Given the description of an element on the screen output the (x, y) to click on. 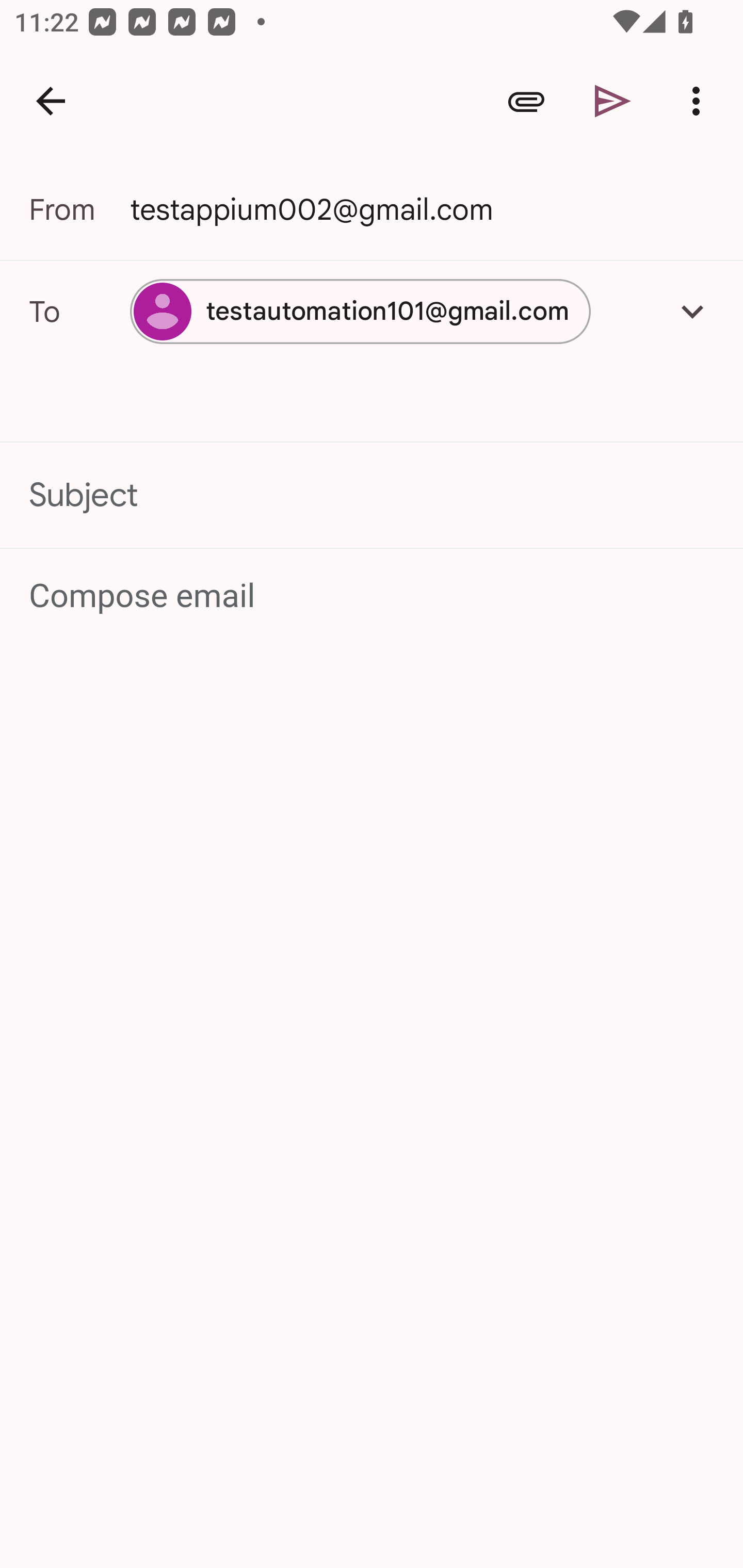
Navigate up (50, 101)
Attach file (525, 101)
Send (612, 101)
More options (699, 101)
From (79, 209)
Add Cc/Bcc (692, 311)
Subject (371, 494)
Compose email (372, 595)
